Given the description of an element on the screen output the (x, y) to click on. 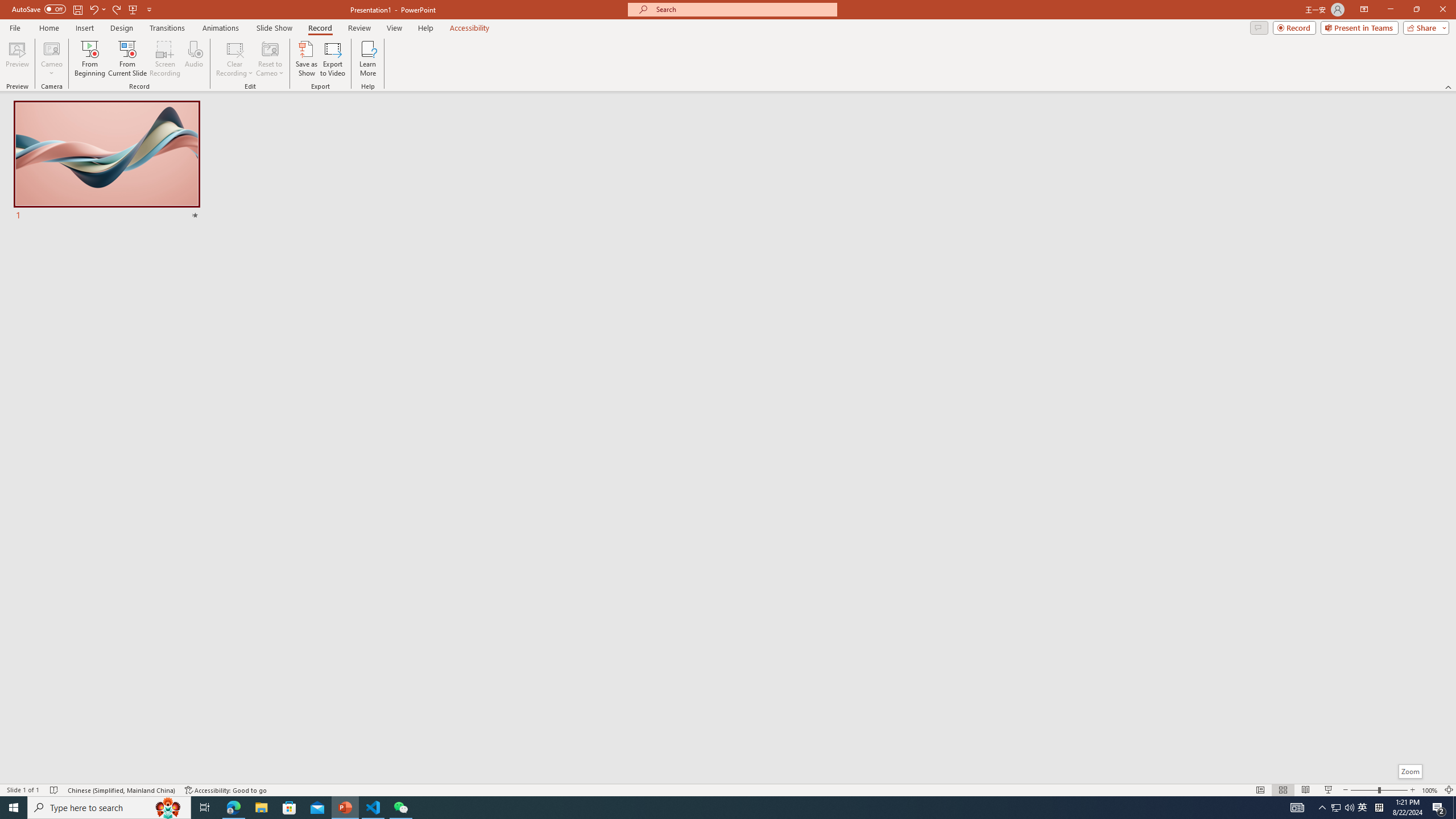
From Current Slide... (127, 58)
